Given the description of an element on the screen output the (x, y) to click on. 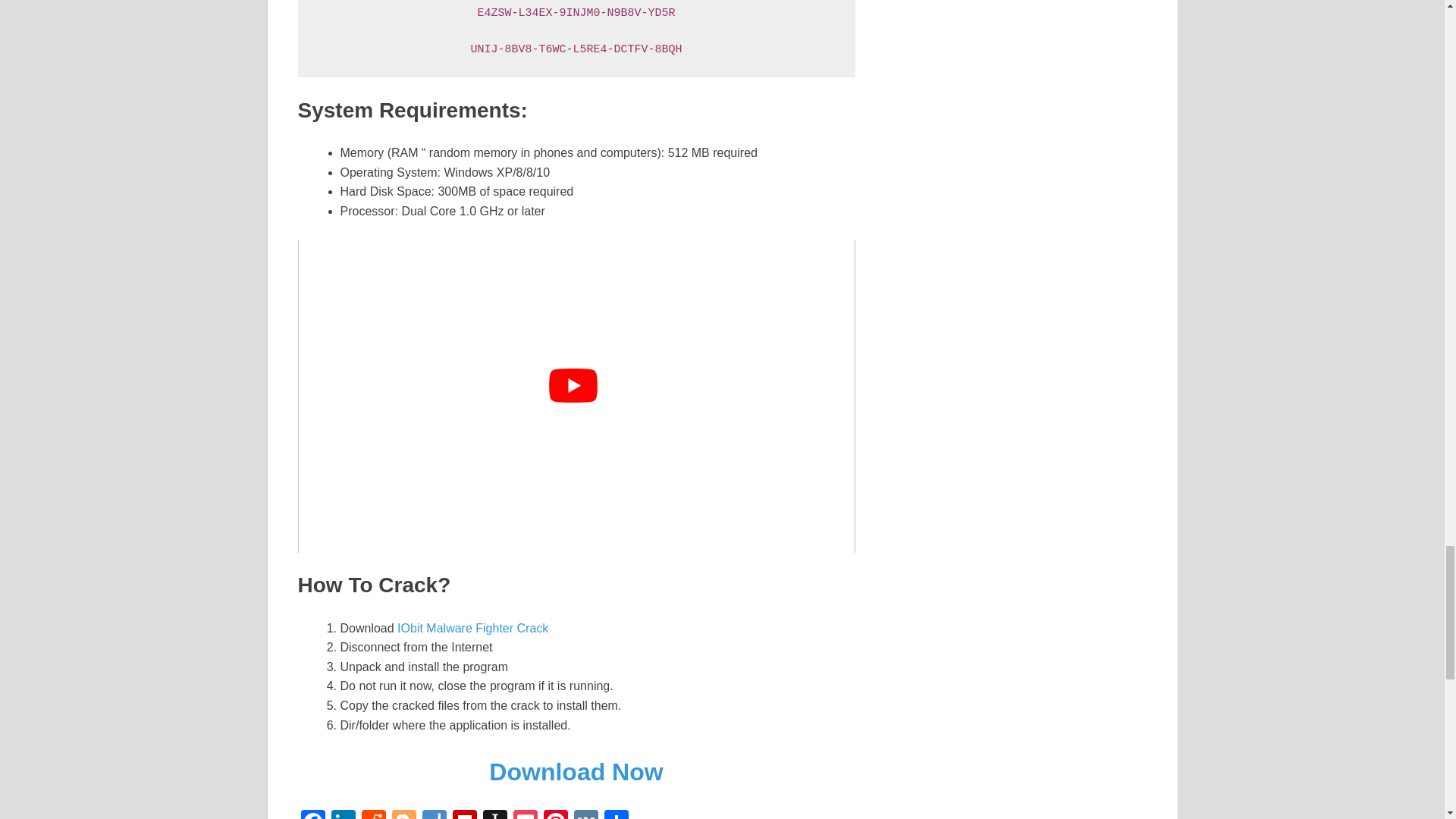
IObit Malware Fighter Crack (472, 627)
Pocket (524, 814)
Pocket (524, 814)
Flipboard (463, 814)
Instapaper (494, 814)
Diigo (433, 814)
Download Now (575, 771)
Diigo (433, 814)
Reddit (373, 814)
LinkedIn (342, 814)
Blogger (403, 814)
LinkedIn (342, 814)
Facebook (312, 814)
Pinterest (555, 814)
Blogger (403, 814)
